Given the description of an element on the screen output the (x, y) to click on. 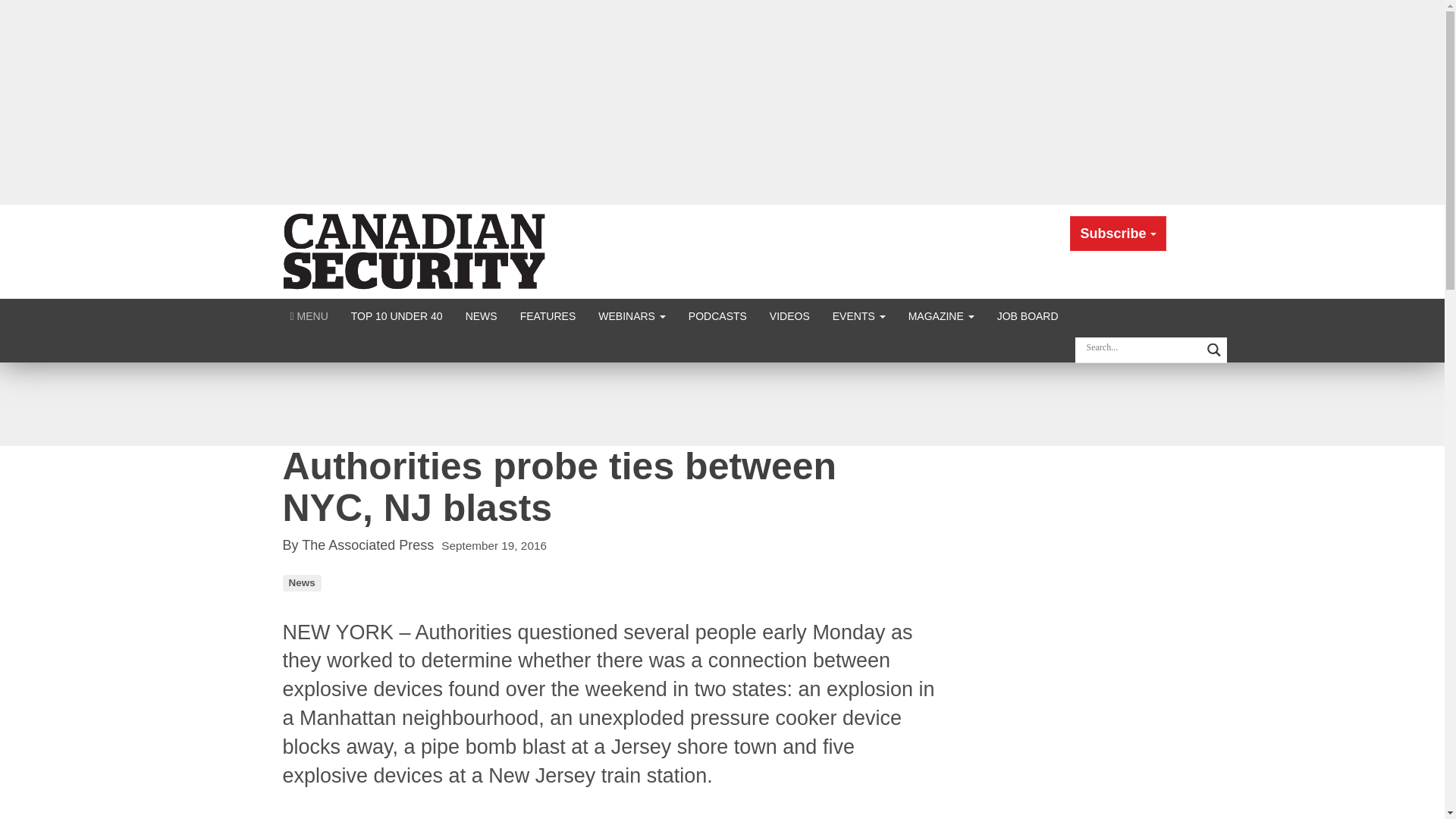
PODCASTS (717, 315)
TOP 10 UNDER 40 (396, 315)
JOB BOARD (1027, 315)
EVENTS (858, 315)
WEBINARS (631, 315)
NEWS (481, 315)
MAGAZINE (940, 315)
MENU (309, 315)
FEATURES (548, 315)
VIDEOS (789, 315)
